Given the description of an element on the screen output the (x, y) to click on. 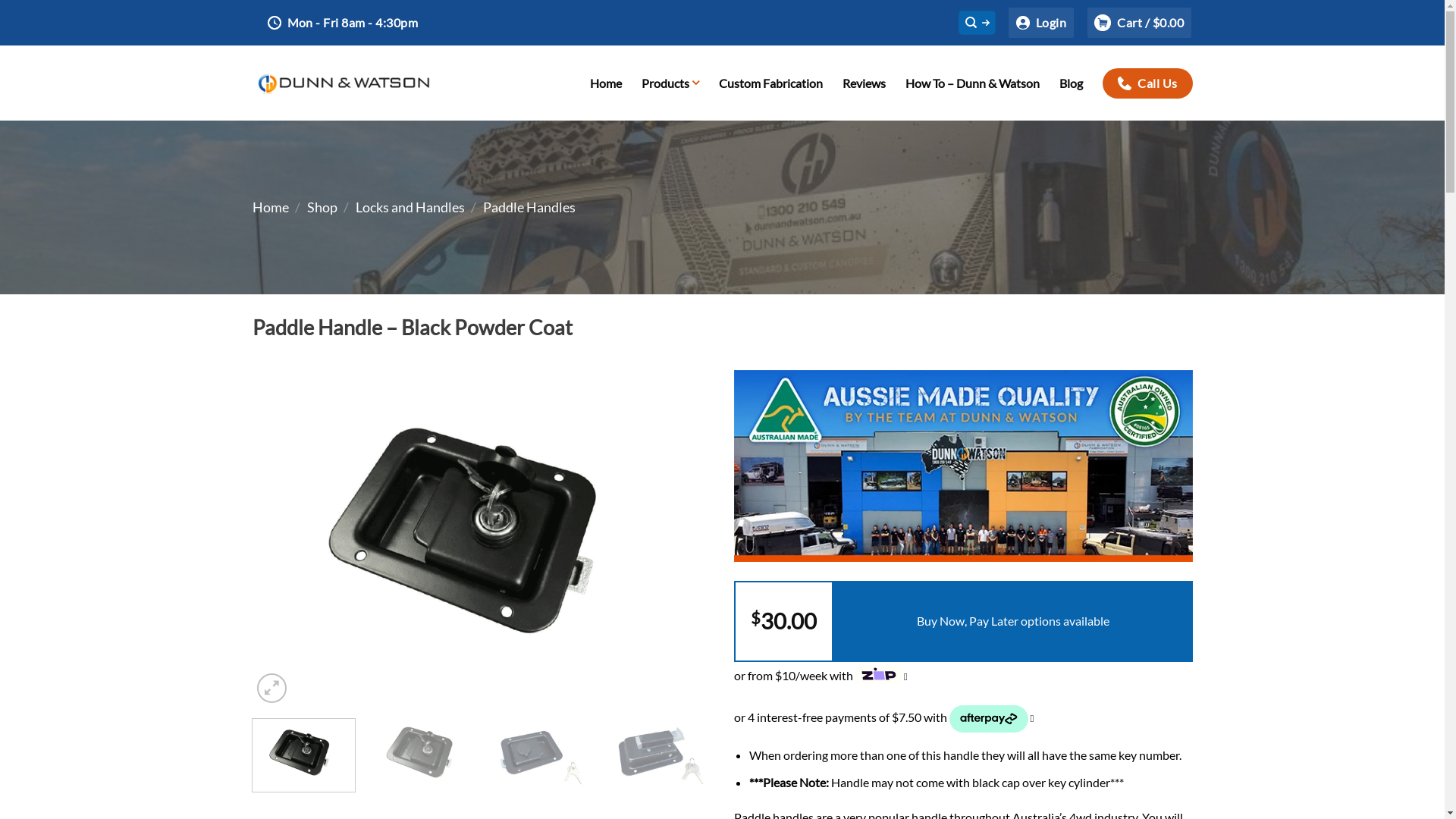
Products Element type: text (670, 82)
Shop Element type: text (322, 206)
Reviews Element type: text (863, 83)
Custom Fabrication Element type: text (770, 83)
Call Us Element type: text (1147, 83)
Zoom Element type: hover (271, 687)
Skip to content Element type: text (0, 0)
Blog Element type: text (1070, 83)
Dunn & Watson Element type: hover (342, 82)
Cart / $0.00 Element type: text (1139, 22)
Home Element type: text (269, 206)
Paddle Handles Element type: text (529, 206)
Login Element type: text (1040, 22)
Locks and Handles Element type: text (409, 206)
Mon - Fri 8am - 4:30pm Element type: text (342, 22)
Home Element type: text (605, 83)
